Given the description of an element on the screen output the (x, y) to click on. 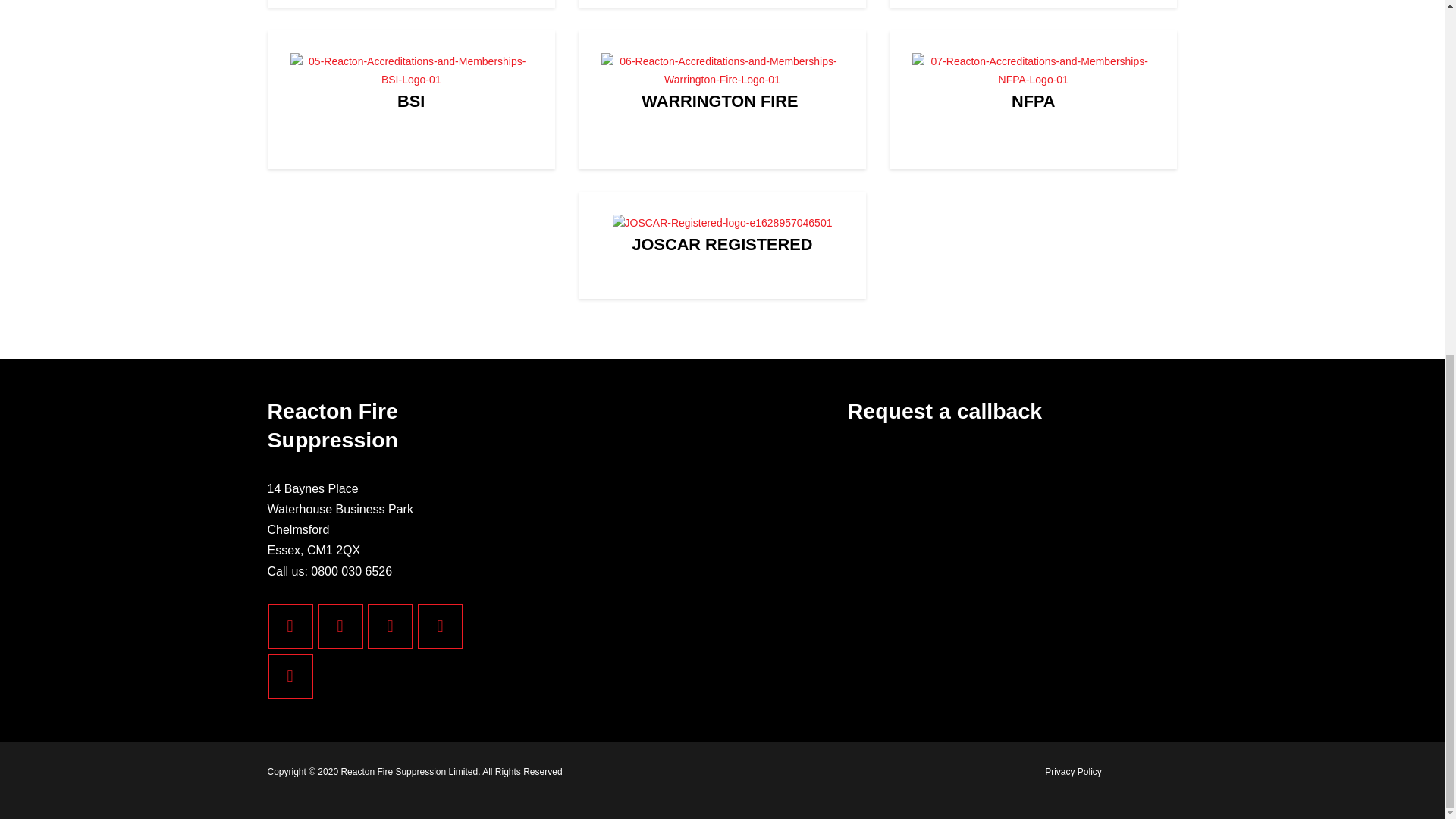
JOSCAR-Registered-logo-e1628957046501 (722, 223)
05-Reacton-Accreditations-and-Memberships-BSI-Logo-01 (410, 71)
07-Reacton-Accreditations-and-Memberships-NFPA-Logo-01 (1033, 71)
